Given the description of an element on the screen output the (x, y) to click on. 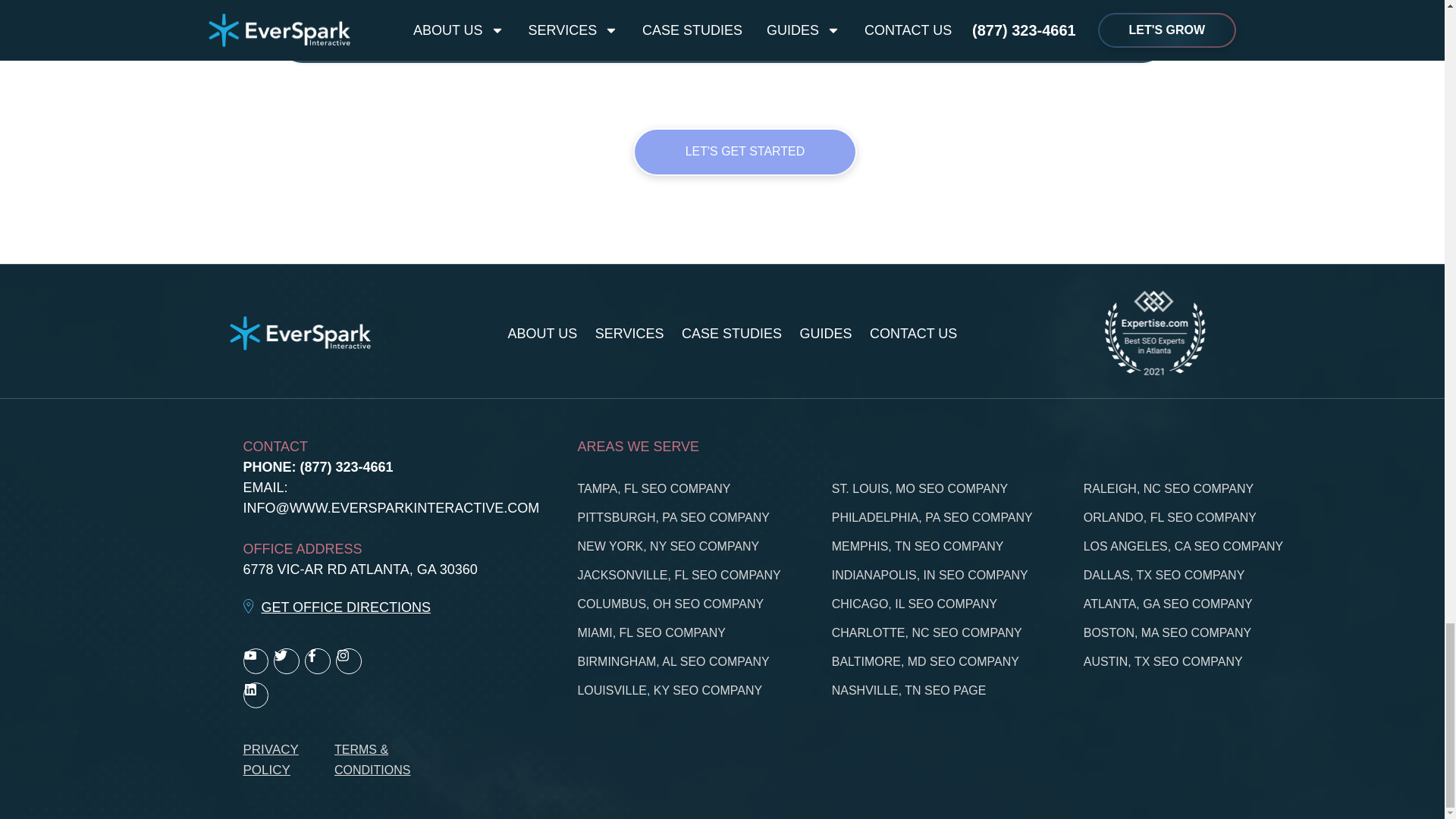
40d6a4baa17461064e2ad84867d35804 (1153, 333)
logo2 (299, 333)
Let's Get Started (745, 151)
